Given the description of an element on the screen output the (x, y) to click on. 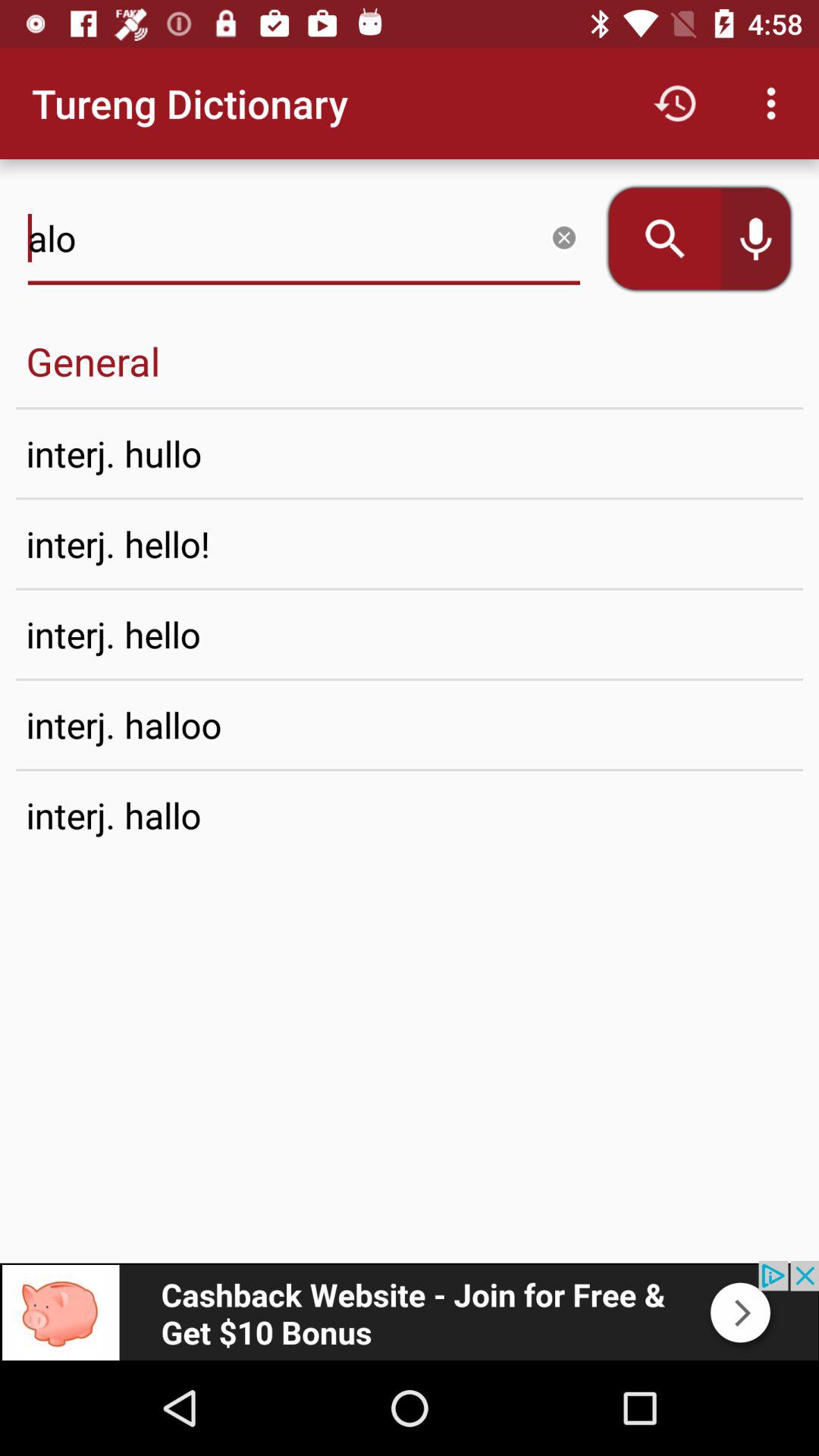
open the advertisement (409, 1310)
